Given the description of an element on the screen output the (x, y) to click on. 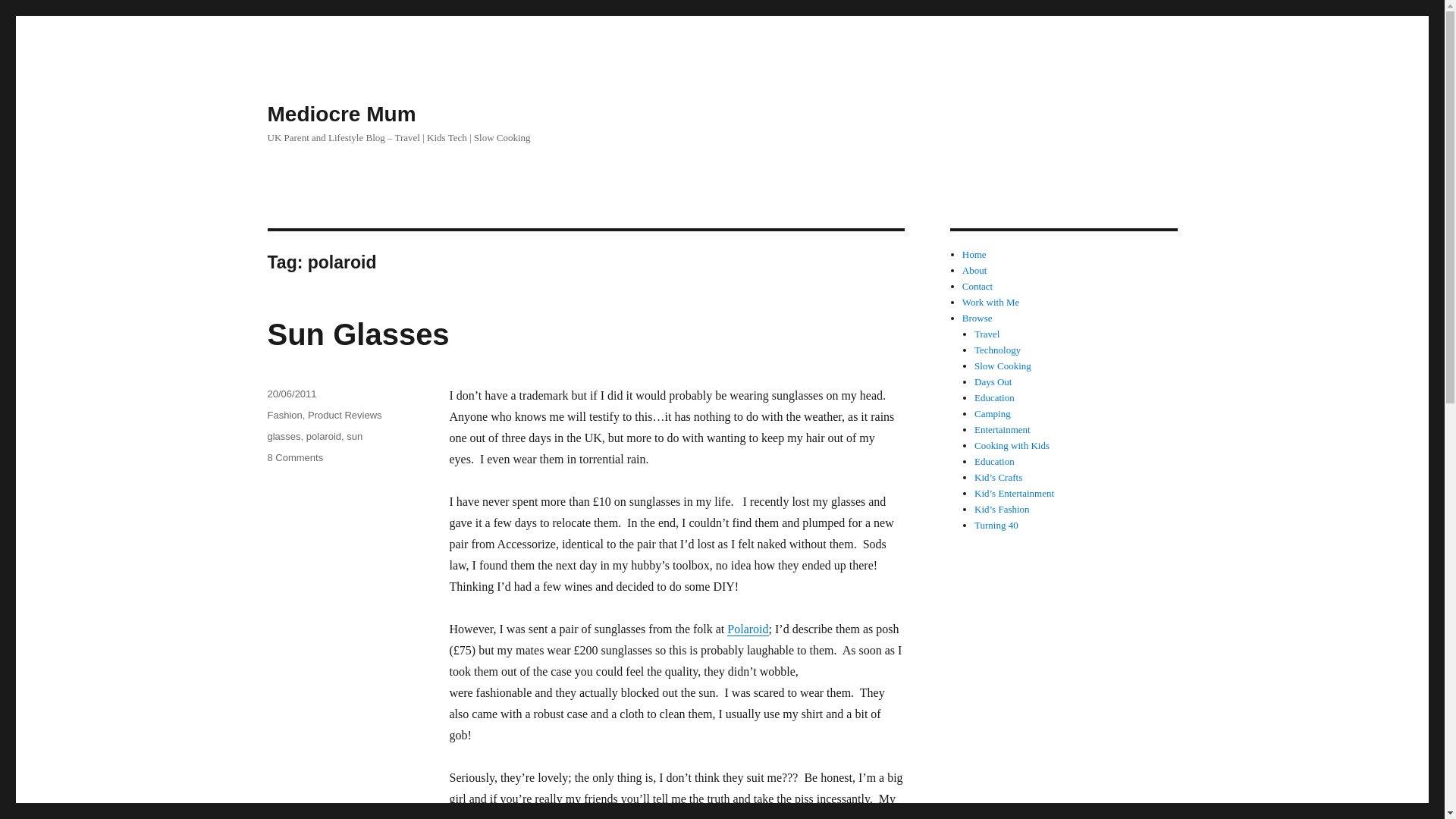
glasses (294, 457)
Contact (282, 436)
Cooking with Kids (977, 285)
polaroid (1011, 445)
Travel (322, 436)
Camping (986, 333)
About (992, 413)
Mediocre Mum (974, 270)
Browse (340, 114)
